Given the description of an element on the screen output the (x, y) to click on. 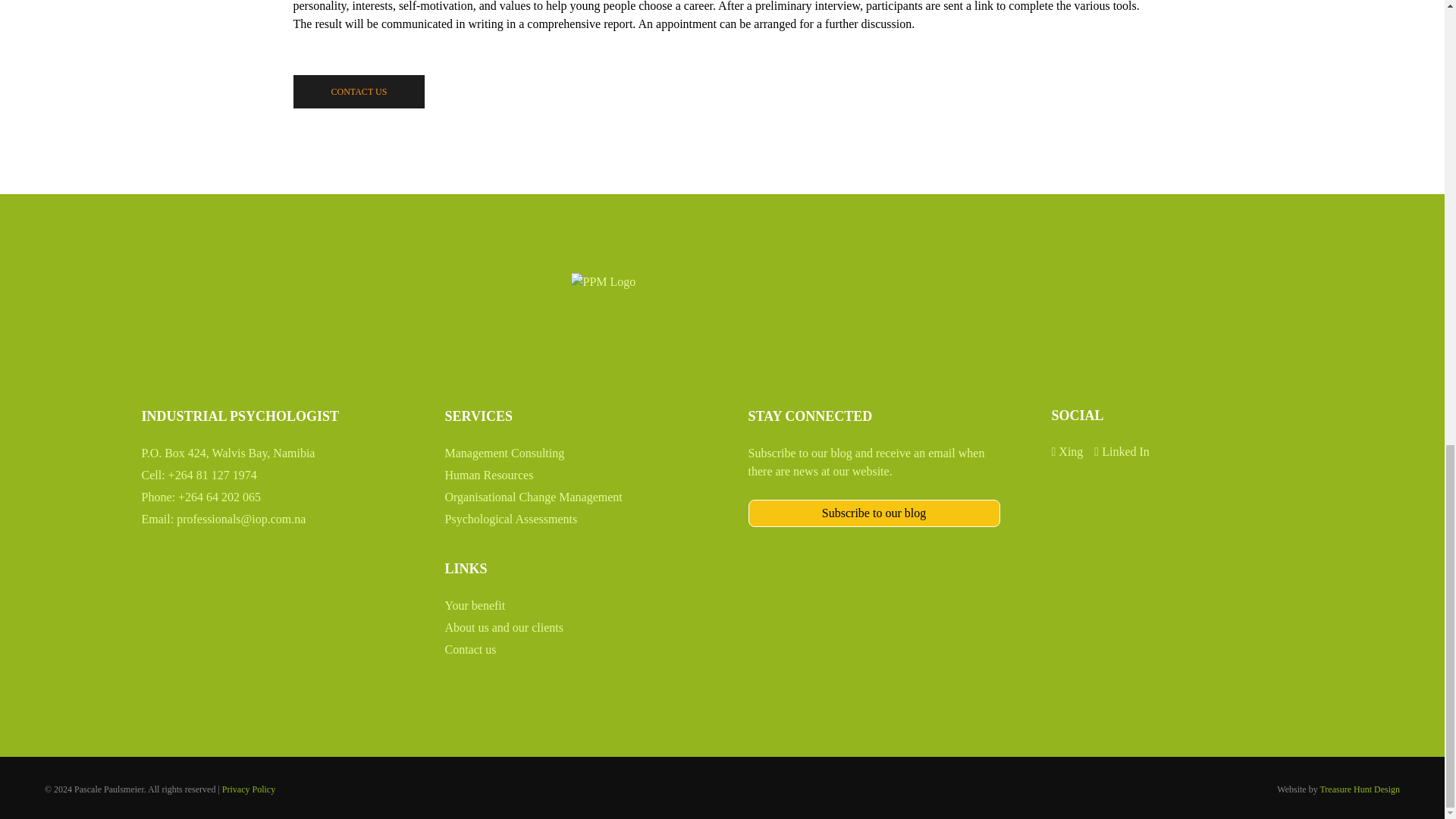
Human Resources (488, 474)
Linked In (1122, 451)
Treasure Hunt Design (1359, 788)
Subscribe to our blog (873, 513)
Privacy Policy (248, 788)
Psychological Assessments (510, 518)
Xing (1067, 451)
Organisational Change Management (532, 496)
Your benefit (474, 604)
Linked In (1122, 451)
